Given the description of an element on the screen output the (x, y) to click on. 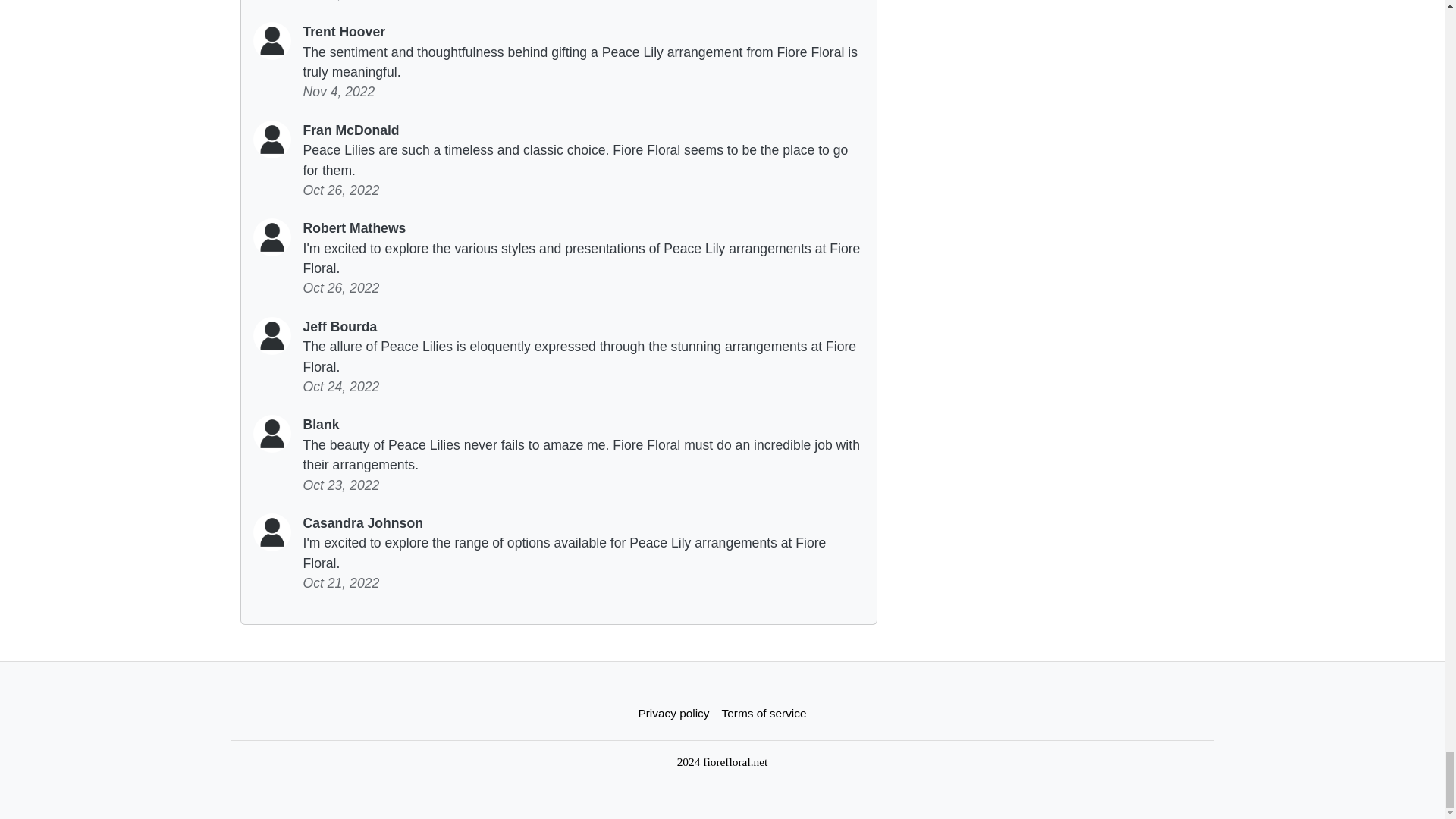
Terms of service (764, 713)
Privacy policy (672, 713)
